Given the description of an element on the screen output the (x, y) to click on. 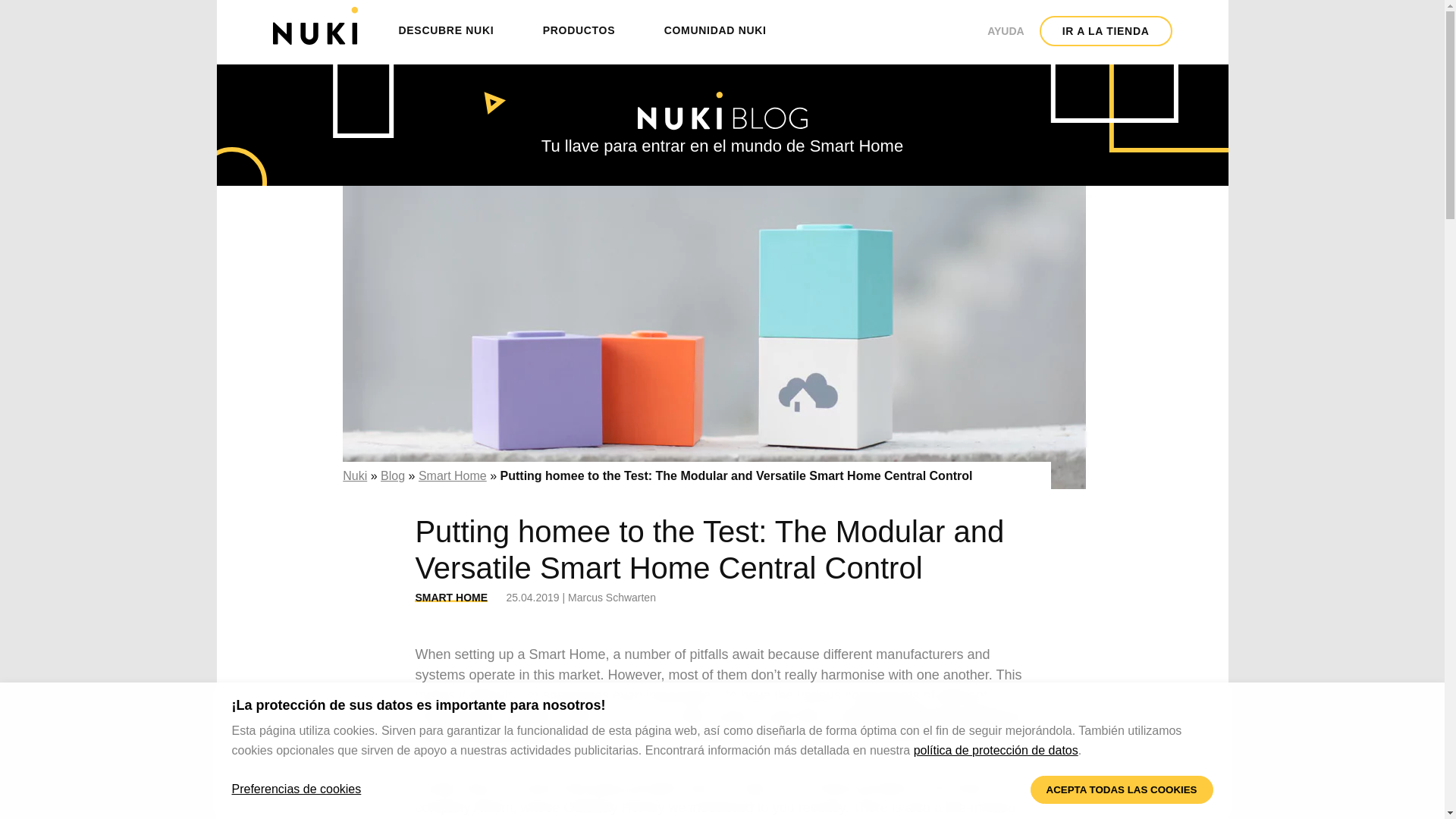
DESCUBRE NUKI (445, 30)
Bienvenido a casa (315, 25)
IR A LA TIENDA (1105, 30)
PRODUCTOS (579, 30)
AYUDA (1006, 18)
COMUNIDAD NUKI (715, 30)
